Given the description of an element on the screen output the (x, y) to click on. 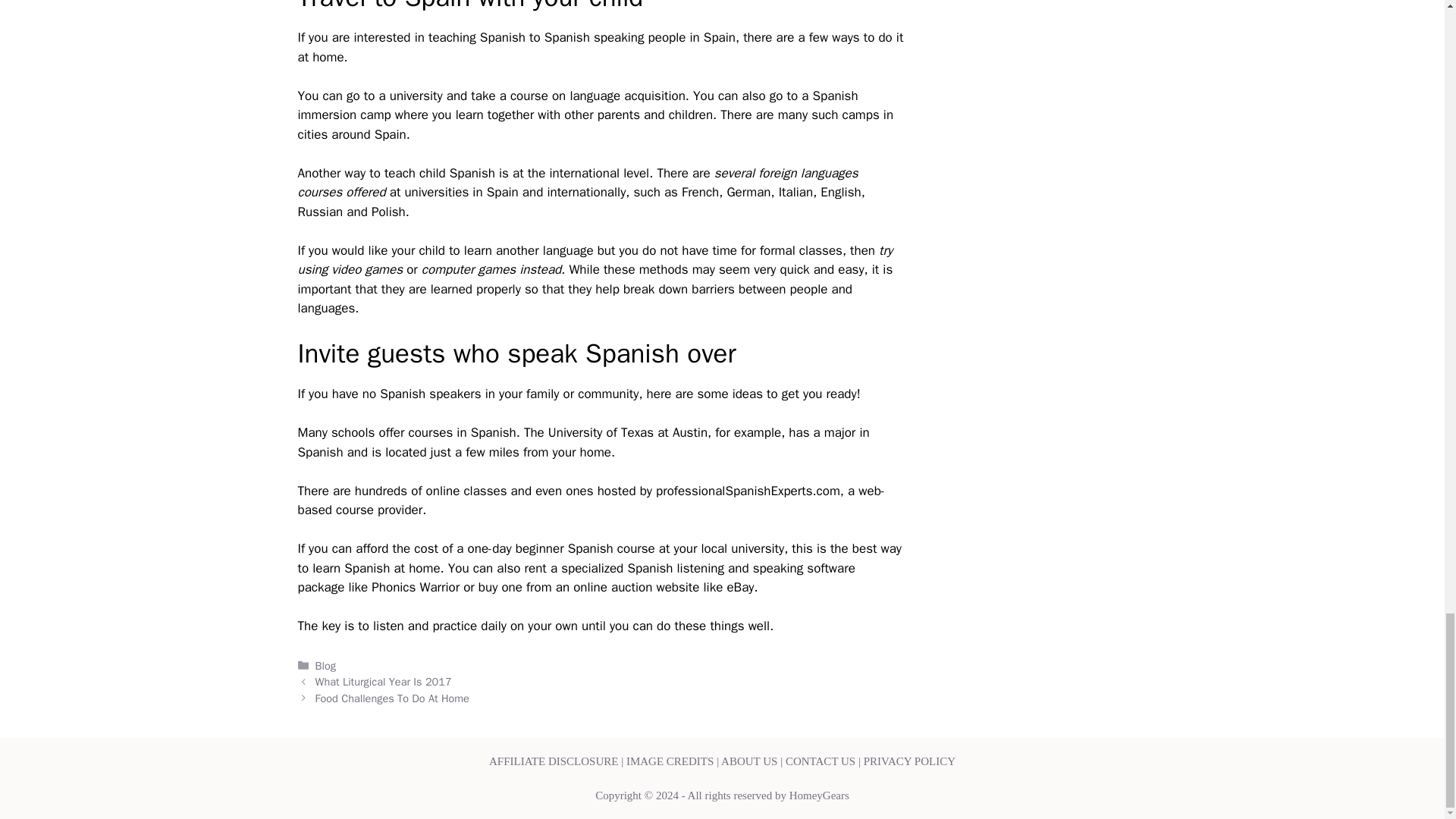
What Liturgical Year Is 2017 (383, 681)
Blog (325, 665)
Food Challenges To Do At Home (391, 698)
